Given the description of an element on the screen output the (x, y) to click on. 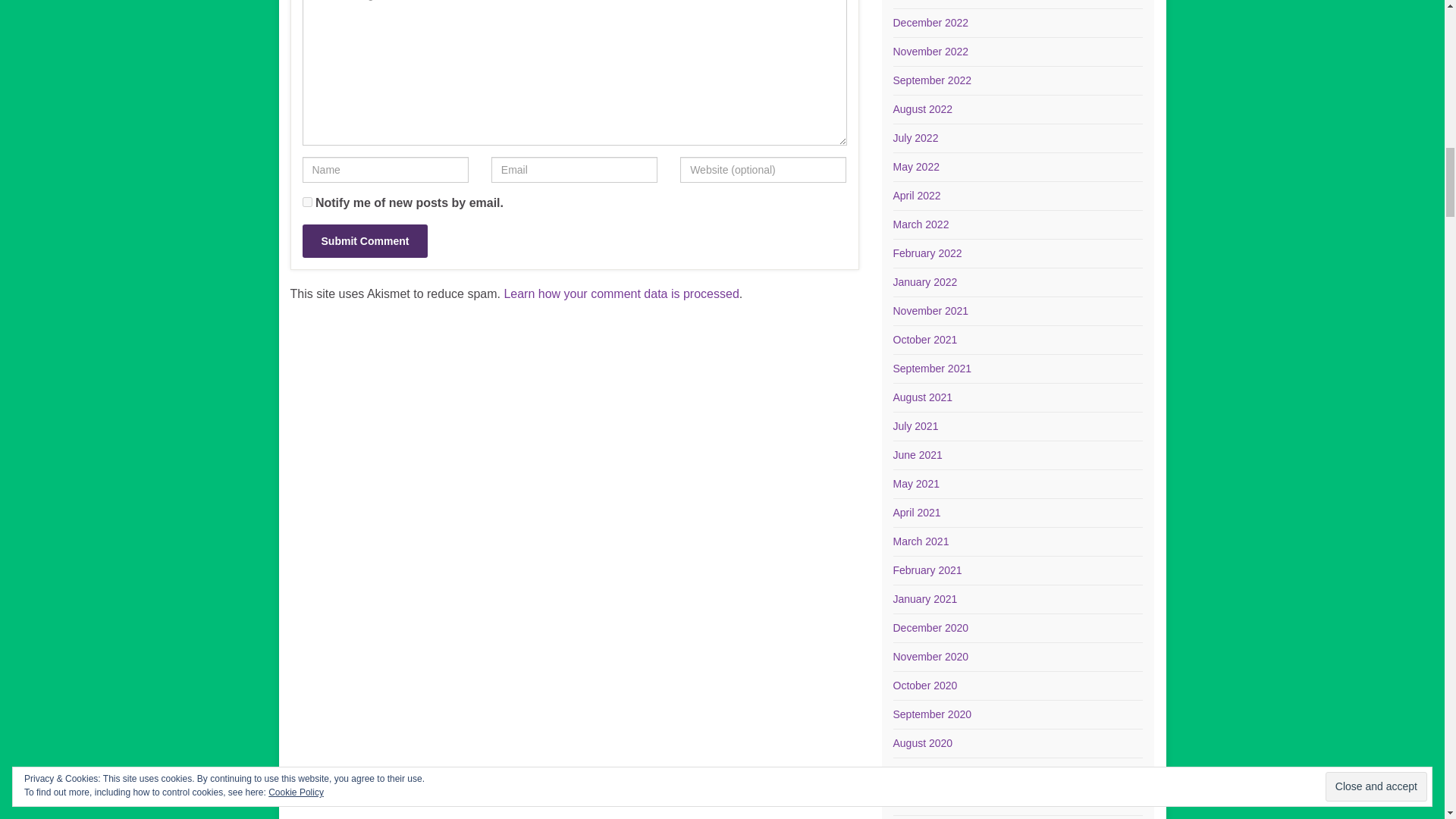
Submit Comment (364, 240)
Learn how your comment data is processed (620, 293)
Submit Comment (364, 240)
subscribe (306, 202)
